Given the description of an element on the screen output the (x, y) to click on. 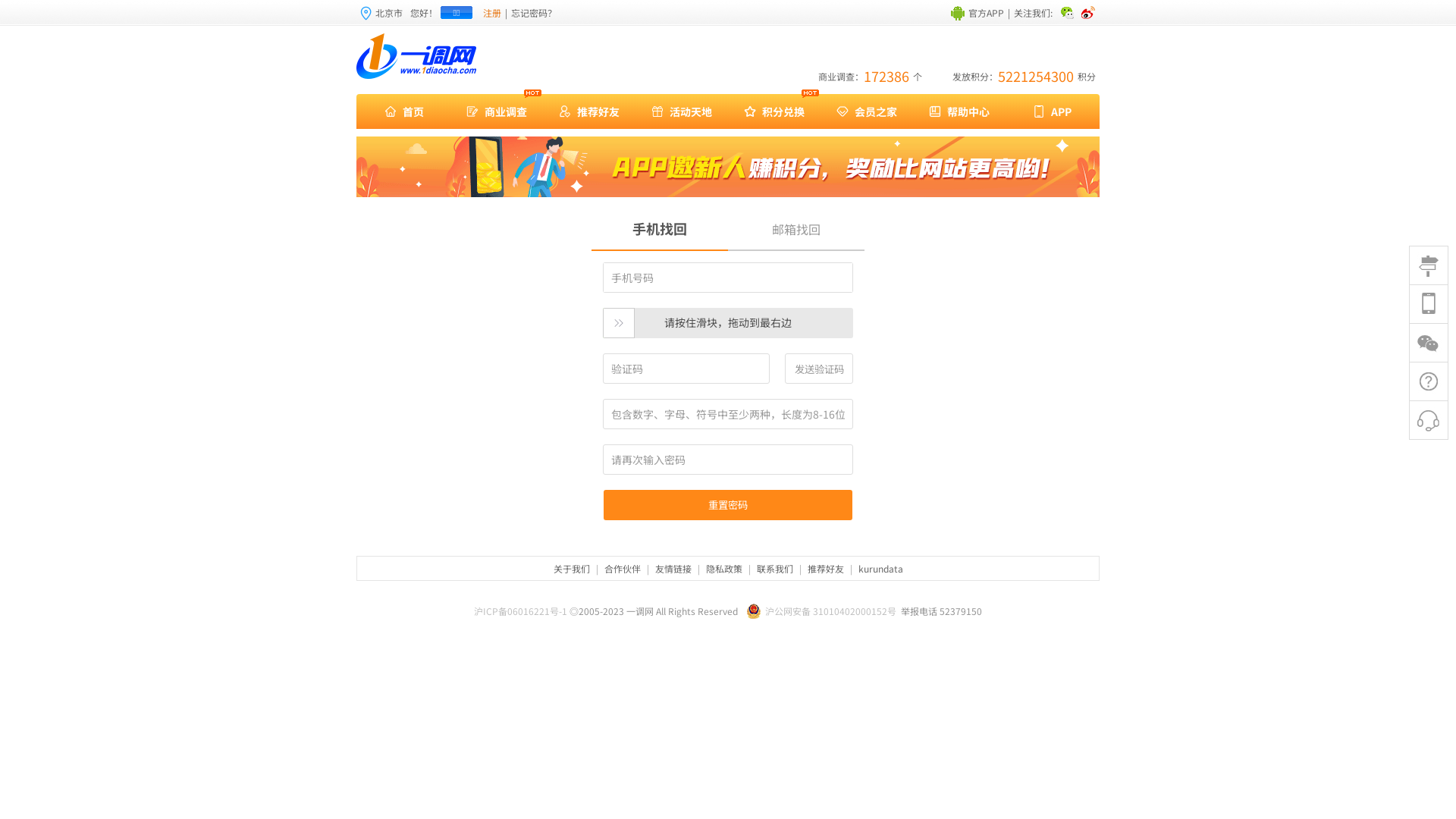
logo Element type: text (416, 55)
0 Element type: text (1428, 420)
0 Element type: text (1428, 304)
APP Element type: text (1051, 111)
kurundata Element type: text (879, 567)
  Element type: text (1088, 12)
0 Element type: text (1428, 381)
0 Element type: text (1428, 265)
  Element type: text (1066, 12)
